Given the description of an element on the screen output the (x, y) to click on. 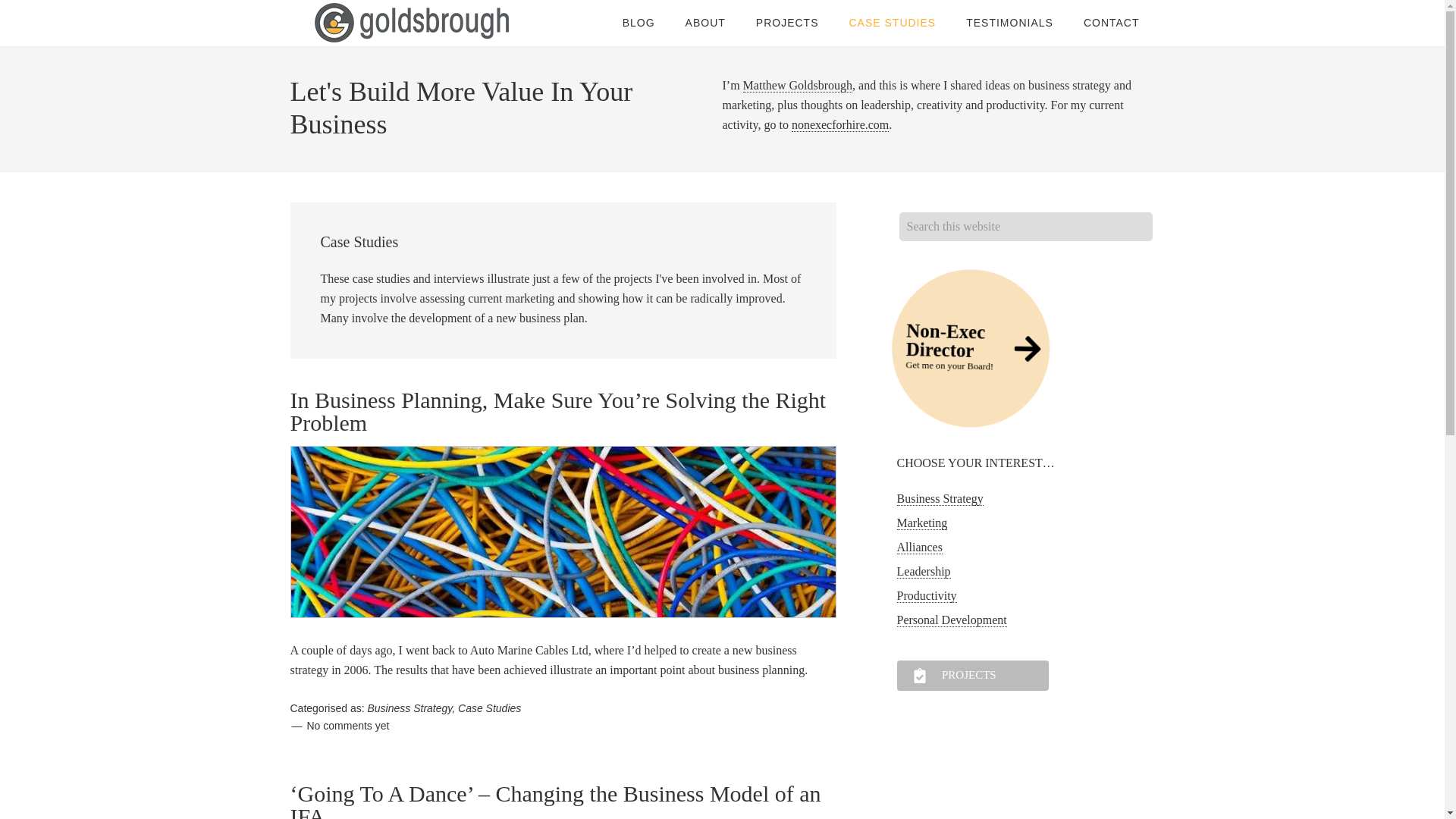
Open in new window (967, 339)
Business Strategy (940, 331)
nonexecforhire.com (408, 707)
Case Studies (840, 124)
Search (489, 707)
Alliances (939, 499)
GOLDSBROUGH CONSULTING LIMITED (919, 547)
ABOUT (410, 22)
Productivity (705, 22)
No comments yet (926, 595)
TESTIMONIALS (346, 725)
BLOG (1009, 22)
